Given the description of an element on the screen output the (x, y) to click on. 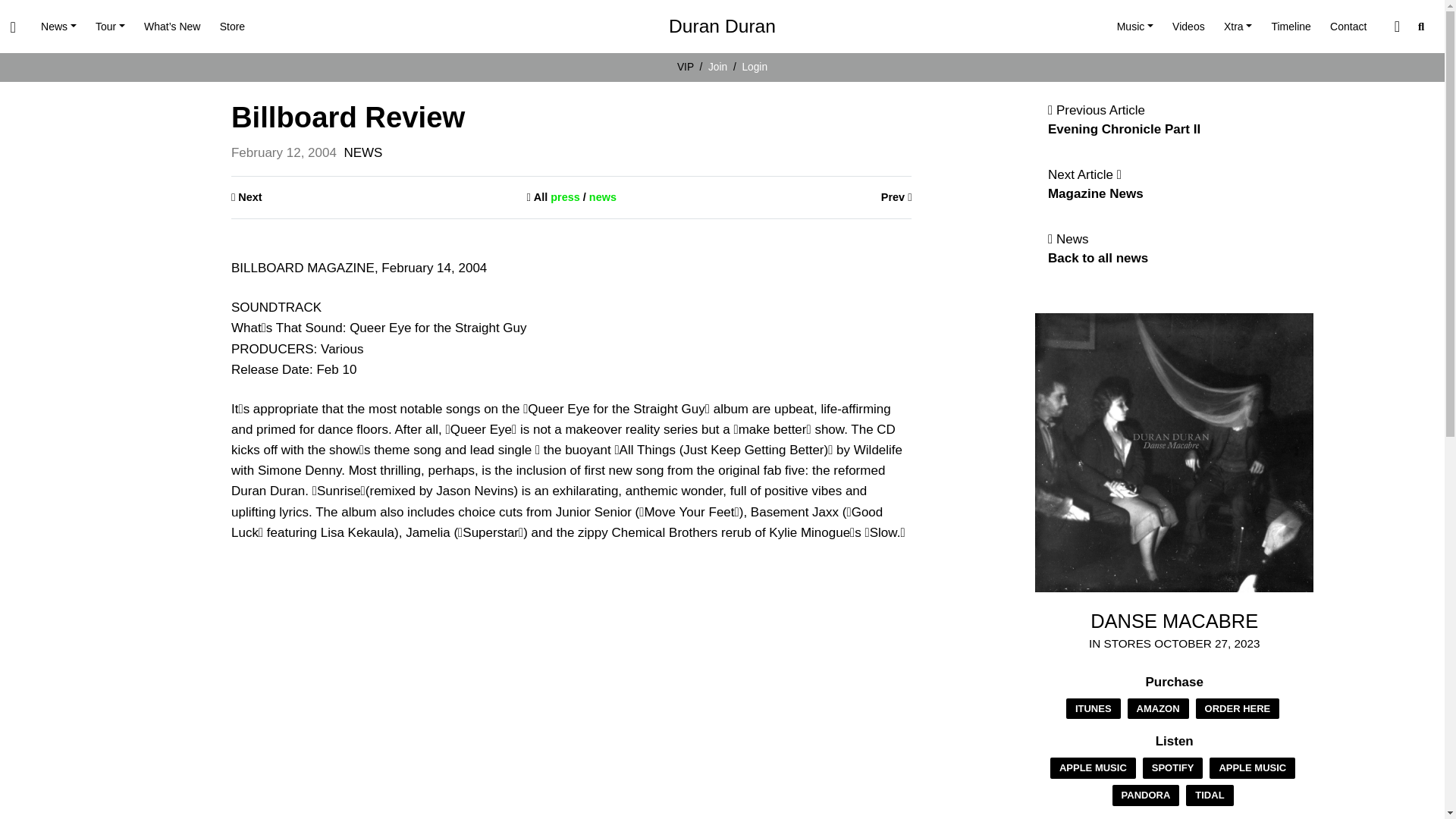
Duran Duran (722, 26)
Tour Dates (109, 26)
Tour (109, 26)
News (57, 26)
Music (1133, 26)
News (57, 26)
